Given the description of an element on the screen output the (x, y) to click on. 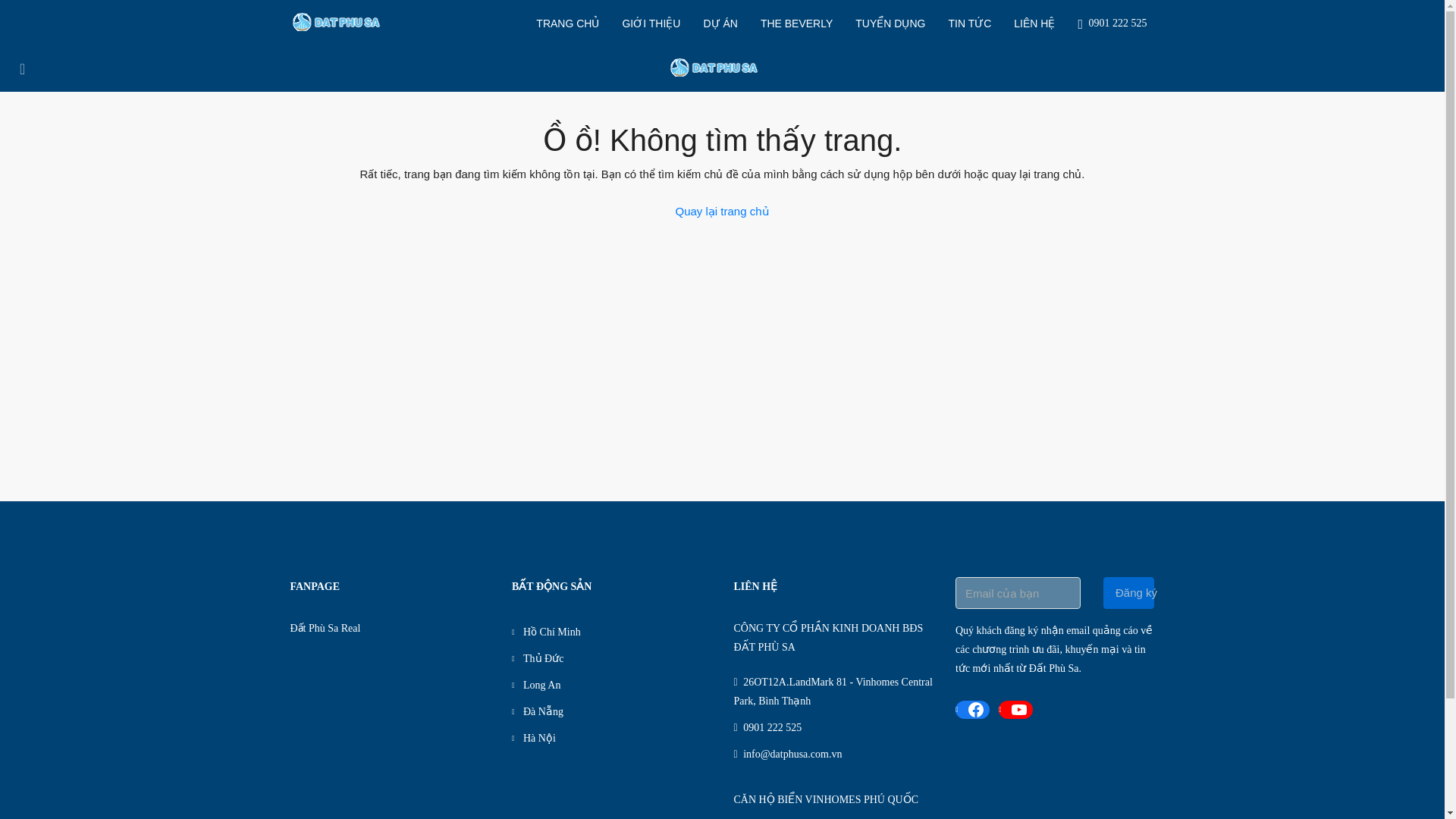
Facebook (972, 710)
THE BEVERLY (796, 22)
Long An (536, 685)
YouTube (1015, 710)
0901 222 525 (1115, 22)
